Given the description of an element on the screen output the (x, y) to click on. 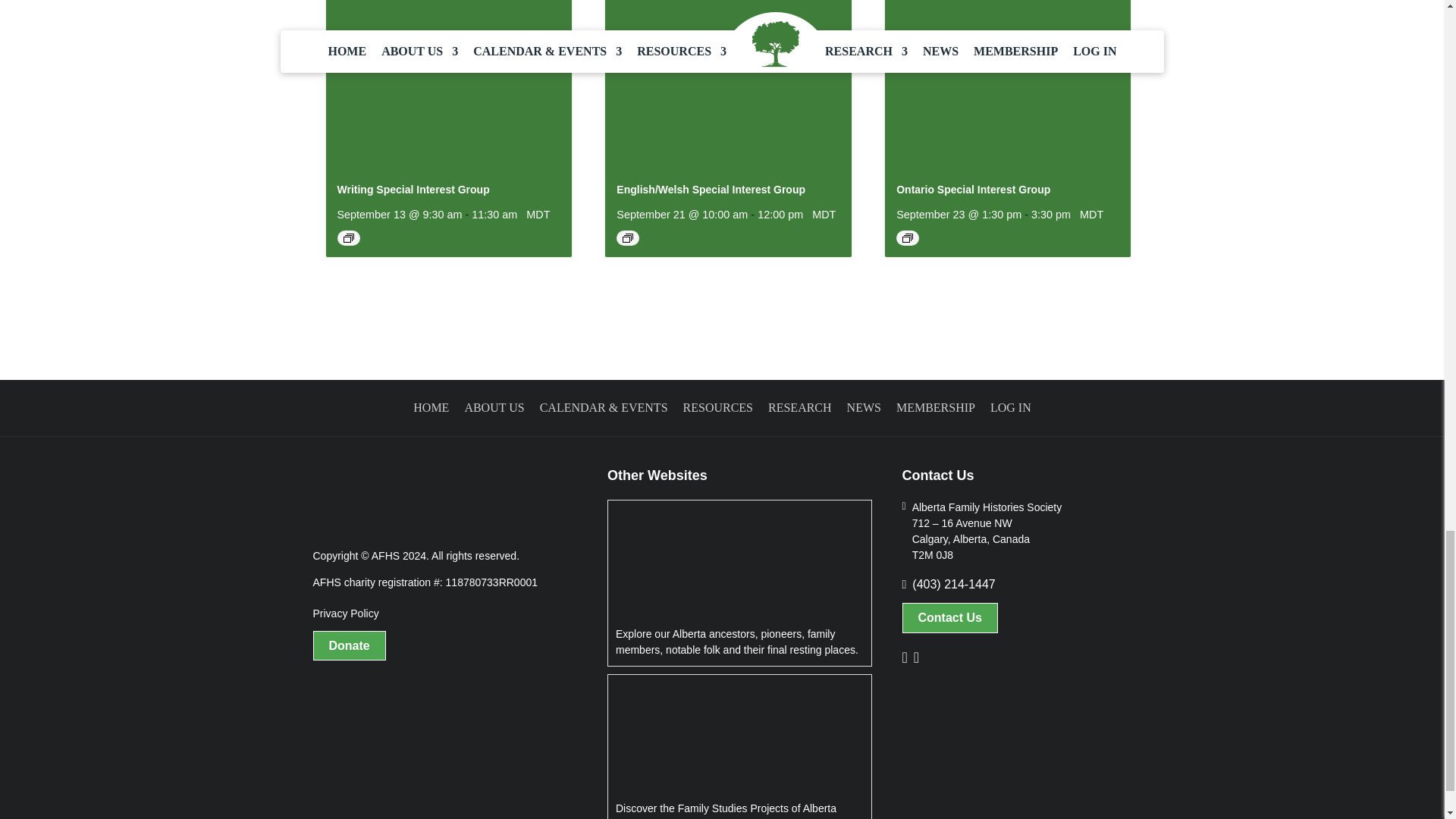
Event Series (347, 237)
Event Series (628, 237)
Event Series (907, 237)
